Given the description of an element on the screen output the (x, y) to click on. 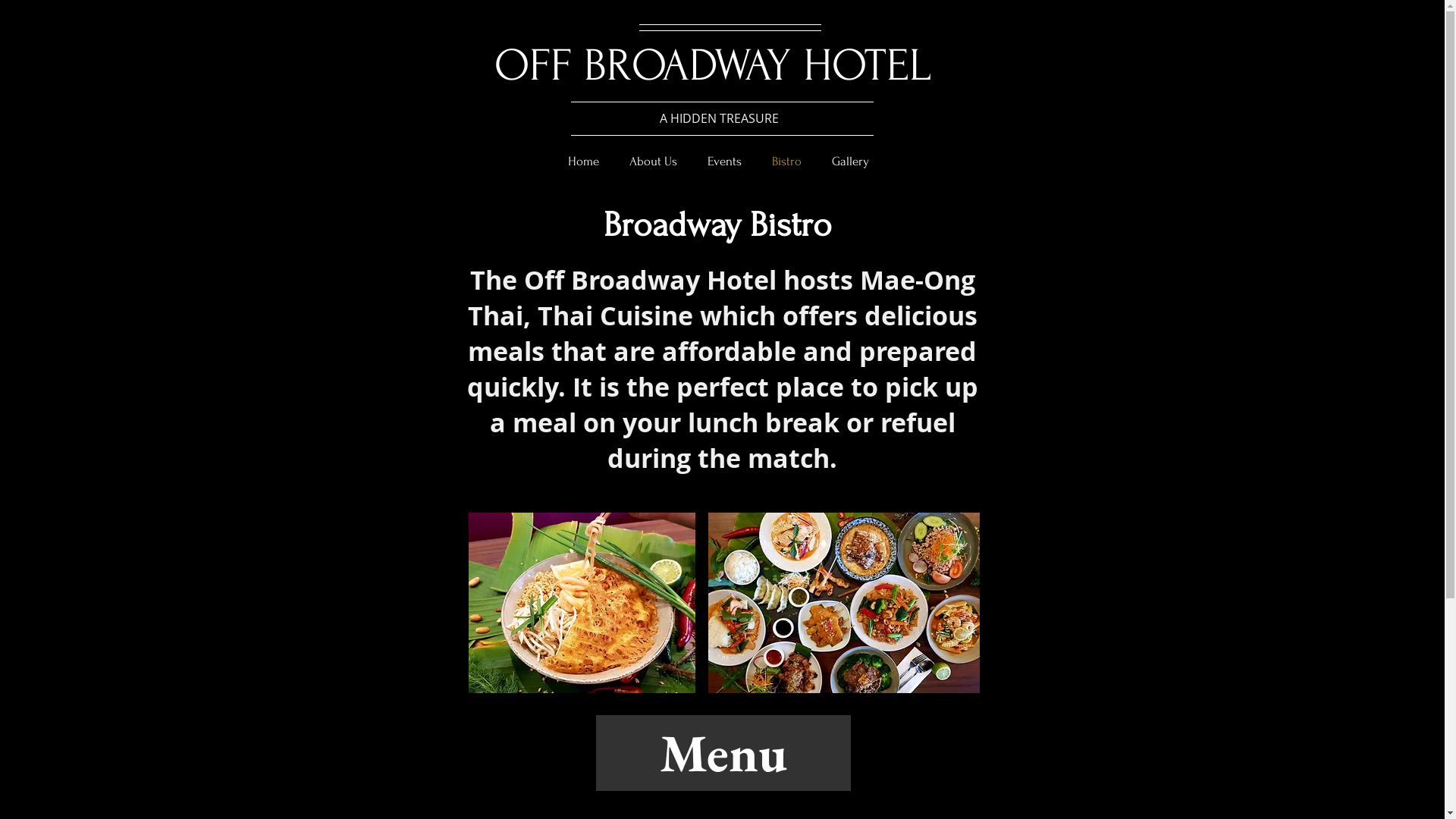
About Us Element type: text (653, 161)
Menu Element type: text (723, 752)
Bistro Element type: text (786, 161)
Gallery Element type: text (850, 161)
Home Element type: text (583, 161)
OFF BROADWAY HOTEL Element type: text (712, 65)
Events Element type: text (724, 161)
